Given the description of an element on the screen output the (x, y) to click on. 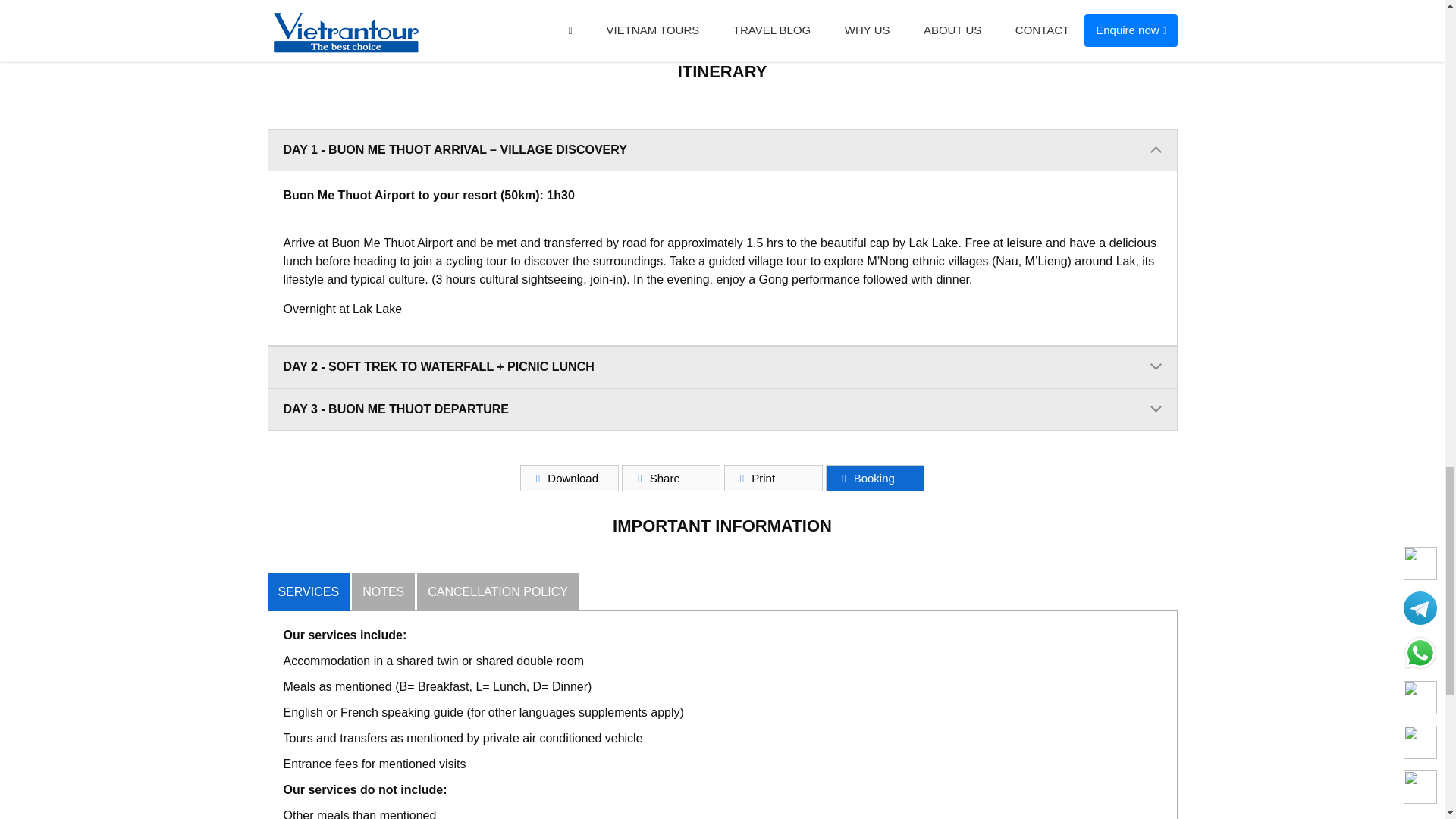
Print (772, 478)
Share (670, 478)
Booking (874, 477)
Booking (874, 478)
Download (568, 477)
SERVICES (307, 591)
Download (568, 478)
